Given the description of an element on the screen output the (x, y) to click on. 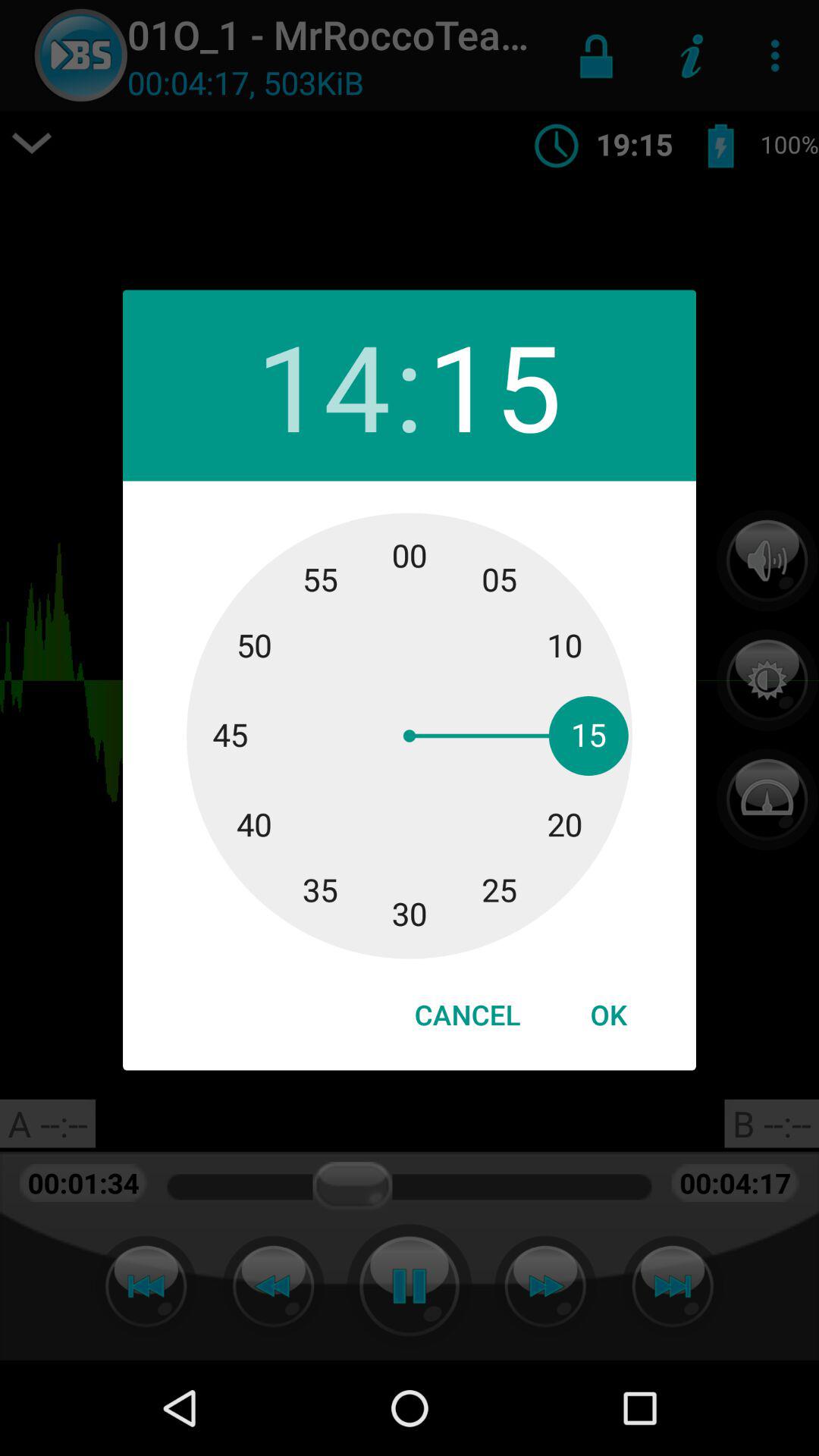
turn off cancel at the bottom (467, 1014)
